Given the description of an element on the screen output the (x, y) to click on. 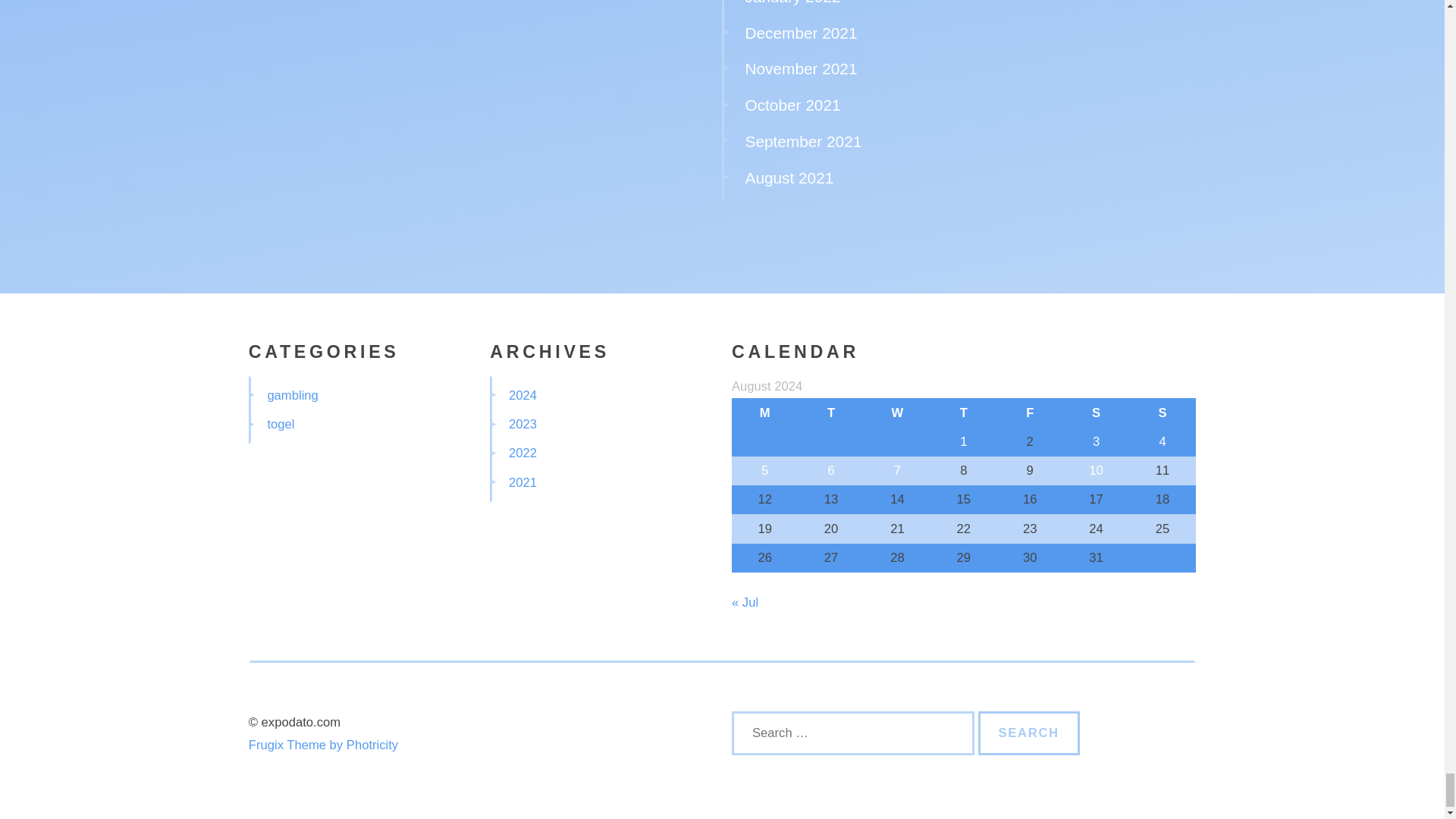
Tuesday (830, 412)
Search (1029, 733)
Wednesday (897, 412)
Search (1029, 733)
Monday (764, 412)
